Given the description of an element on the screen output the (x, y) to click on. 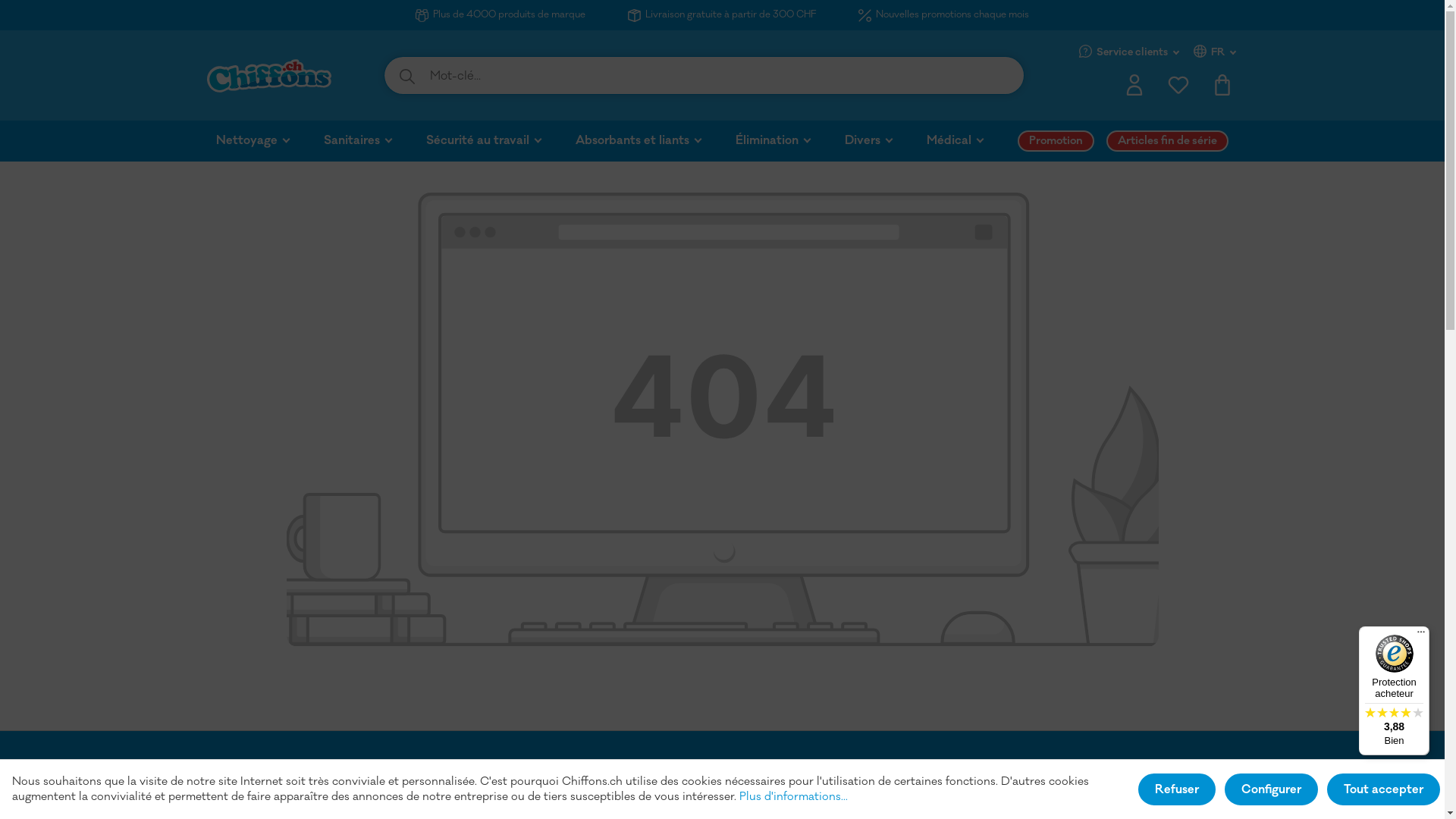
Mon compte Element type: hover (1133, 89)
Prendre contact Element type: text (810, 779)
FR Element type: text (1215, 51)
Panier Element type: hover (1221, 89)
Divers Element type: text (885, 140)
Absorbants et liants Element type: text (655, 140)
Rendez-vous de conseil Element type: text (990, 779)
Sanitaires Element type: text (374, 140)
041 268 69 60 Element type: text (305, 766)
Tout accepter Element type: text (1383, 788)
Refuser Element type: text (1176, 788)
Plus d'informations... Element type: text (793, 796)
Nettoyage Element type: text (269, 140)
Service clients Element type: text (1129, 51)
salut@chiffons.ch Element type: text (573, 779)
Promotion Element type: text (1061, 140)
Configurer Element type: text (1271, 788)
